Given the description of an element on the screen output the (x, y) to click on. 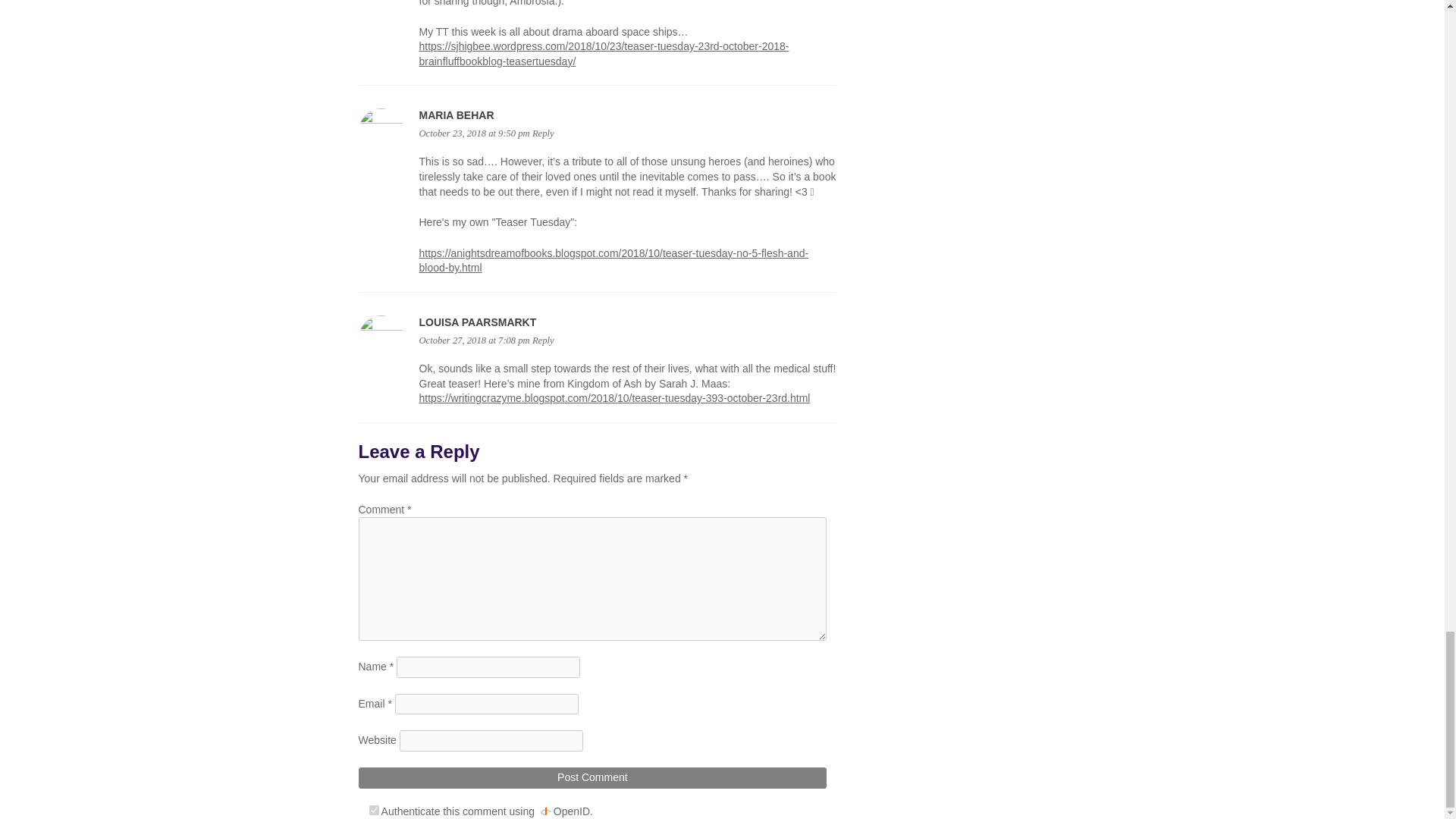
on (373, 809)
Post Comment (592, 777)
